Given the description of an element on the screen output the (x, y) to click on. 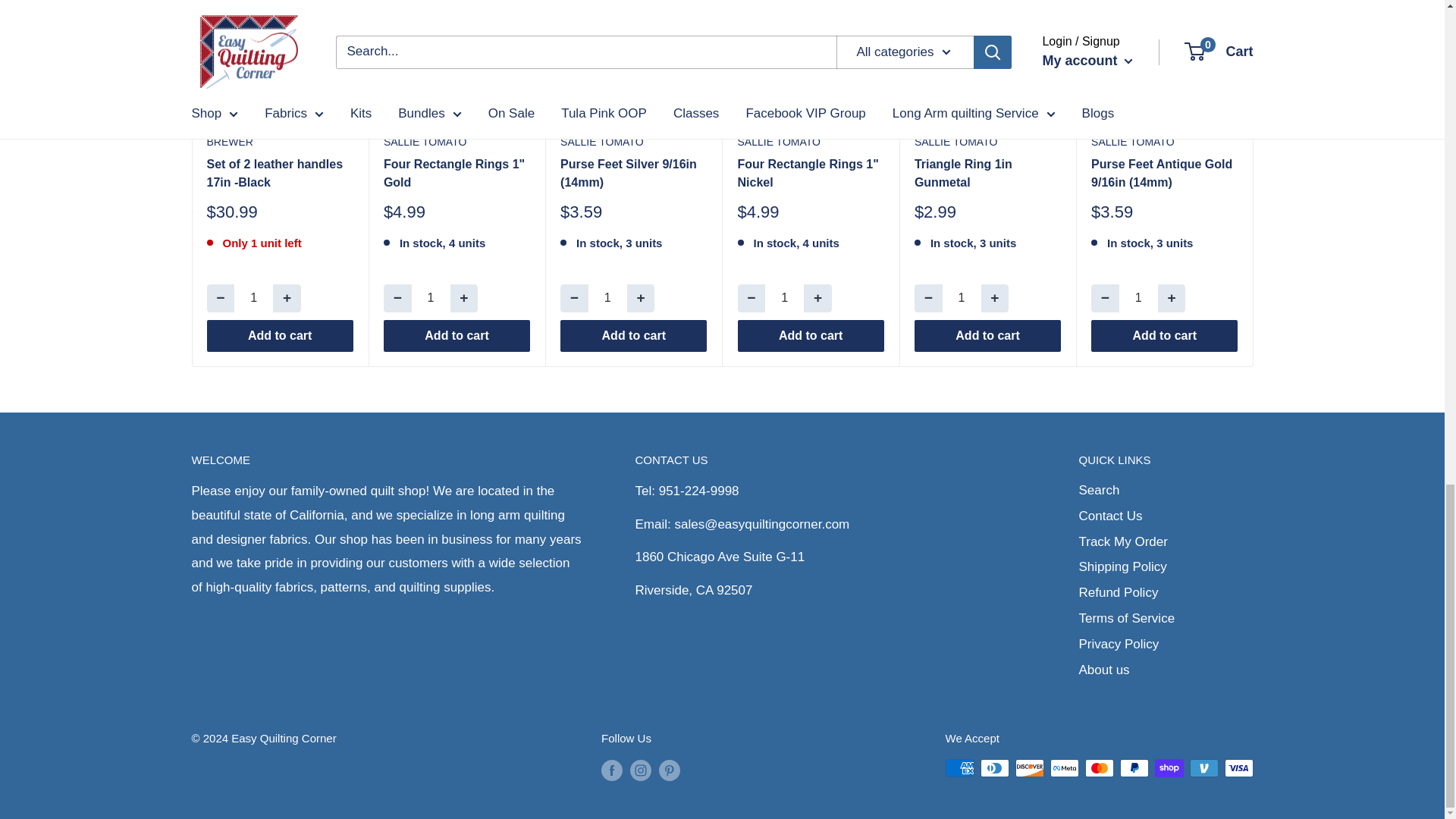
Decrease Quantity (750, 298)
1 (607, 298)
1 (784, 298)
Decrease Quantity (220, 298)
Decrease Quantity (928, 298)
Increase Quantity (464, 298)
Increase Quantity (287, 298)
Increase Quantity (995, 298)
1 (430, 298)
Decrease Quantity (398, 298)
1 (253, 298)
1 (961, 298)
Increase Quantity (817, 298)
Increase Quantity (641, 298)
Decrease Quantity (1104, 298)
